Given the description of an element on the screen output the (x, y) to click on. 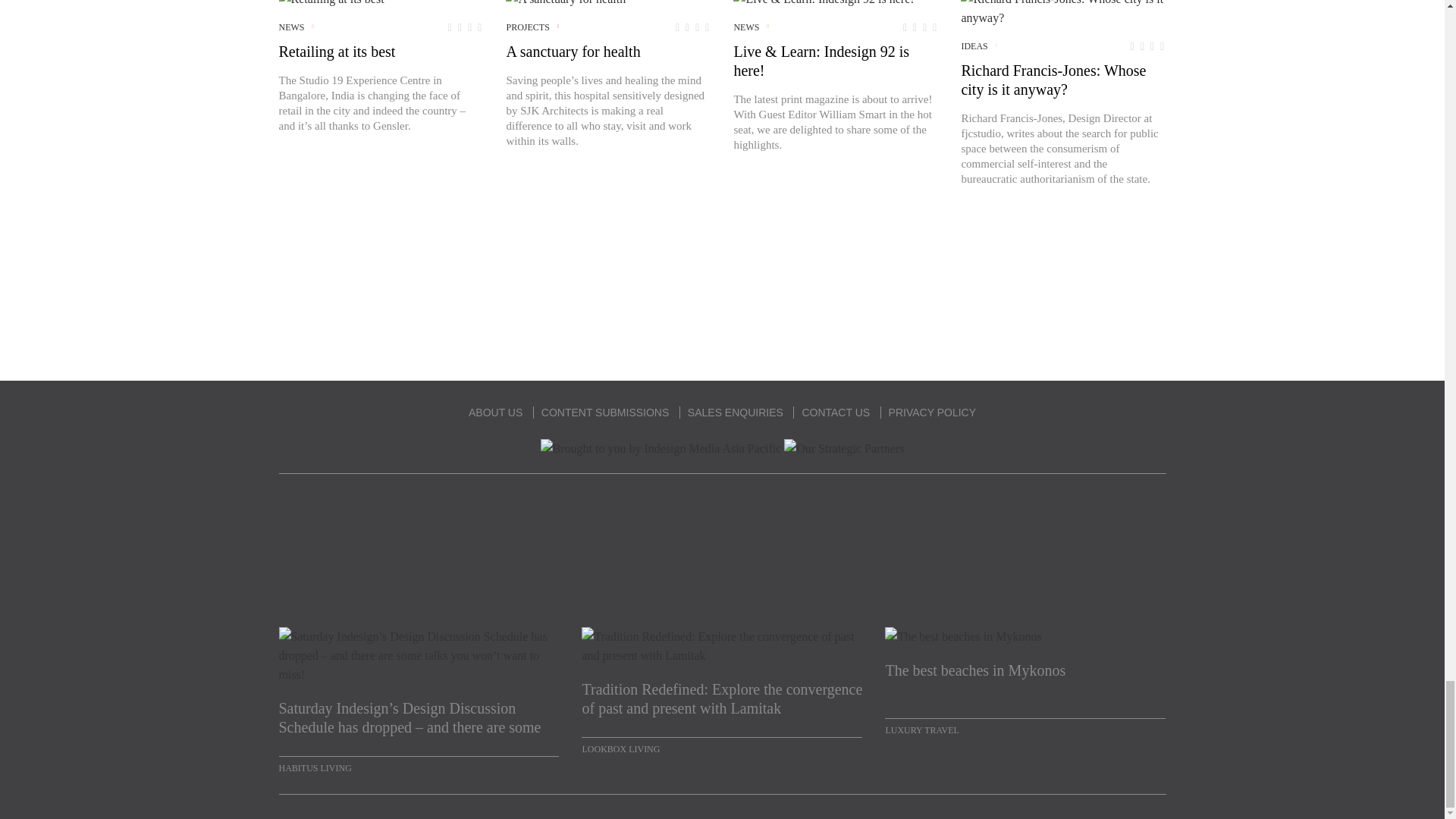
Richard Francis-Jones: Whose city is it anyway? (1063, 13)
Retailing at its best (331, 4)
Our Strategic Partners (844, 447)
A sanctuary for health (565, 4)
Brought to you by Indesign Media Asia Pacific (660, 447)
